Given the description of an element on the screen output the (x, y) to click on. 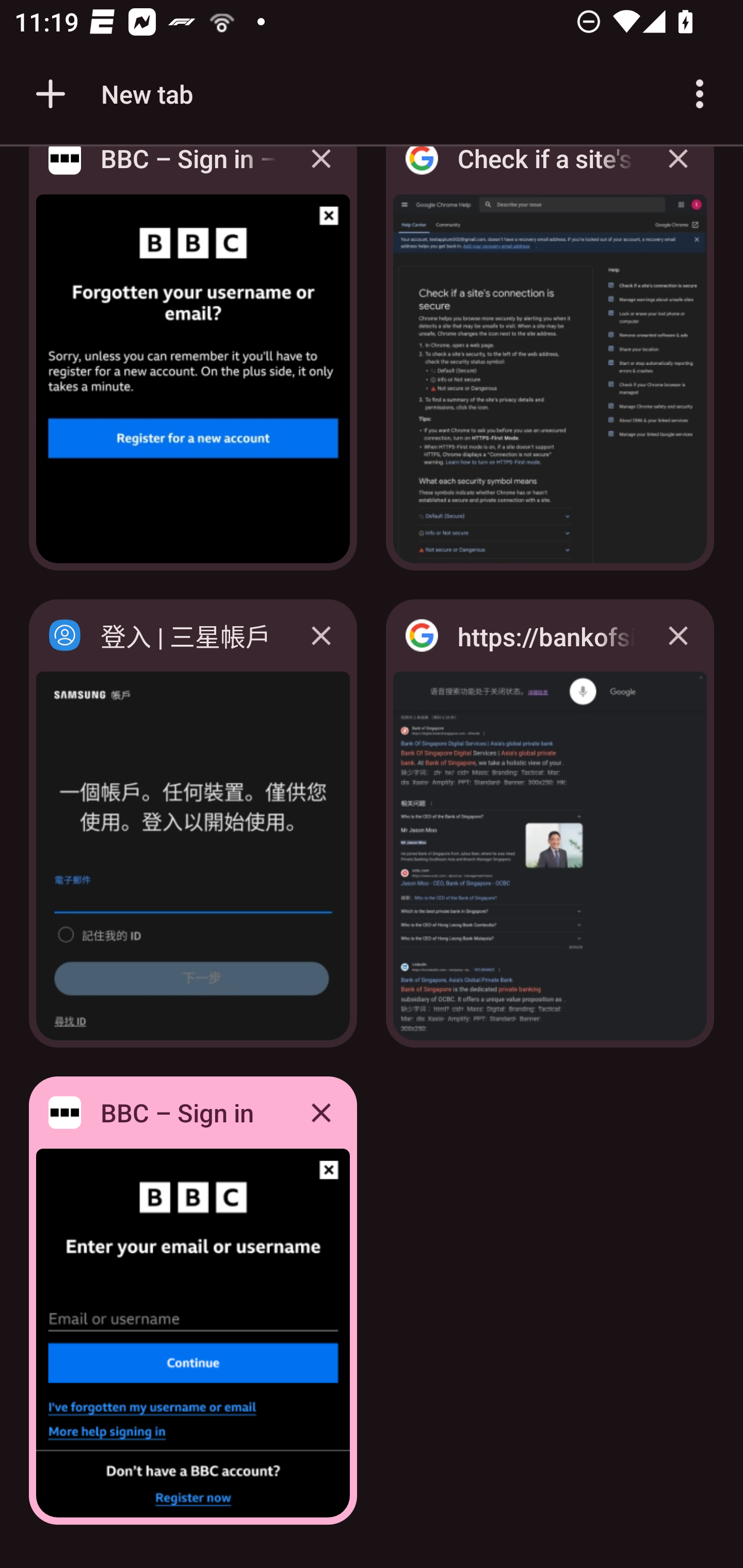
New tab (111, 93)
Customize and control Google Chrome (699, 93)
登入 | 三星帳戶 登入 | 三星帳戶, tab Close 登入 | 三星帳戶 tab (192, 822)
Close 登入 | 三星帳戶 tab (320, 635)
Close BBC – Sign in tab (320, 1112)
